Given the description of an element on the screen output the (x, y) to click on. 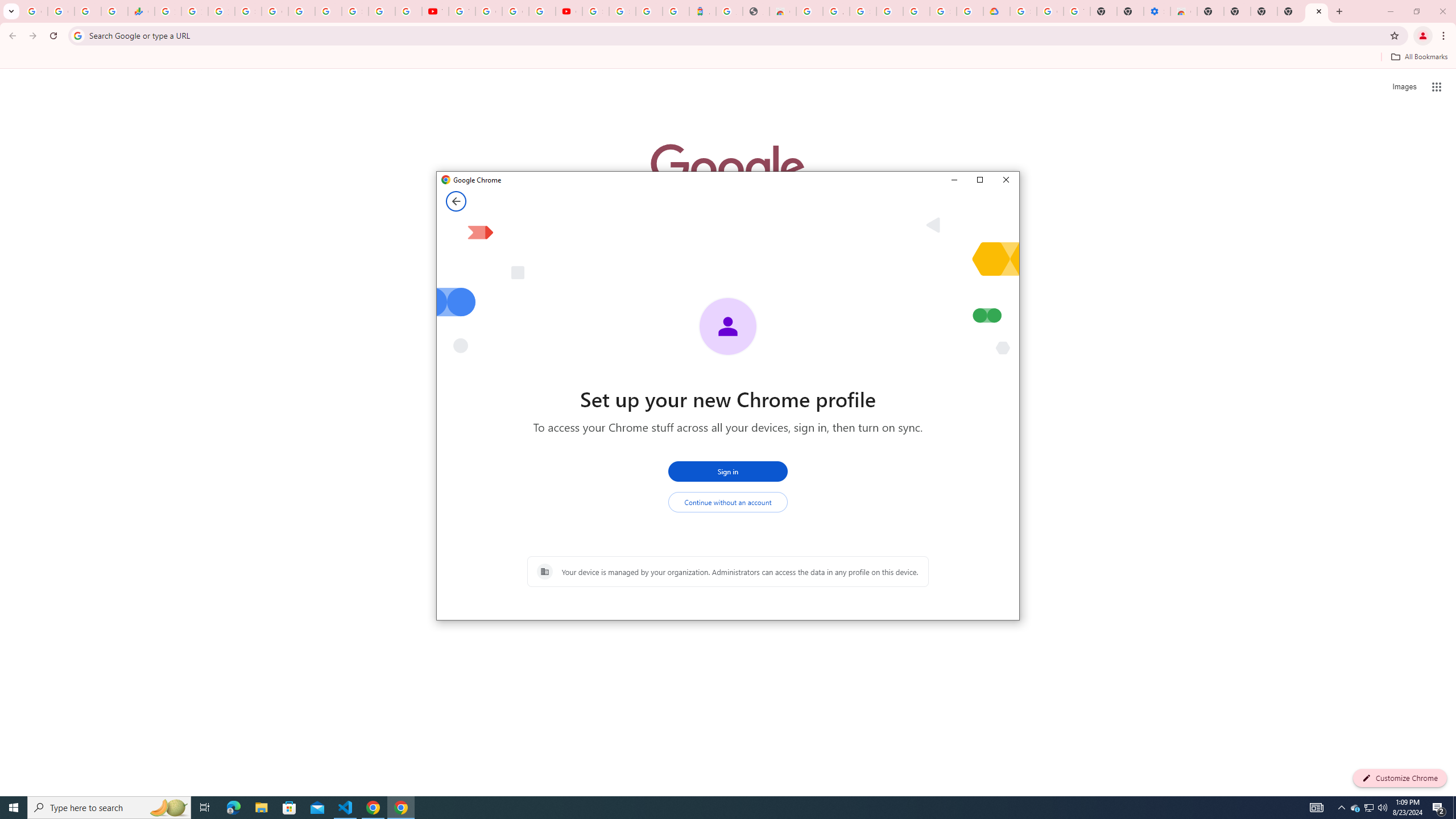
Show desktop (1355, 807)
Search icon (1454, 807)
Sign in - Google Accounts (77, 35)
Running applications (248, 11)
Sign in - Google Accounts (717, 807)
Chrome Web Store - Household (595, 11)
Type here to search (1368, 807)
Chrome Web Store - Accessibility extensions (782, 11)
